Given the description of an element on the screen output the (x, y) to click on. 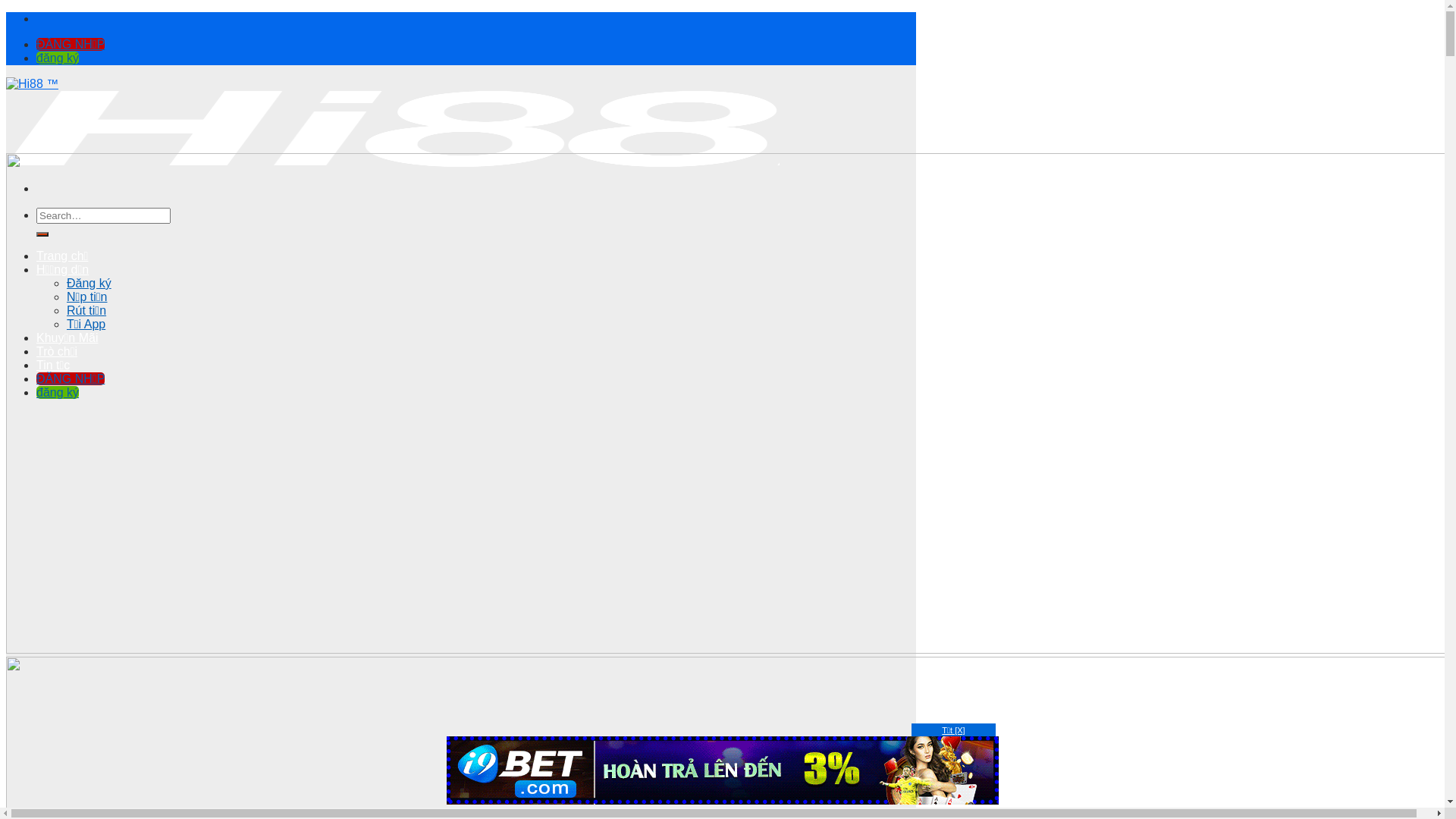
Skip to content Element type: text (5, 11)
